Given the description of an element on the screen output the (x, y) to click on. 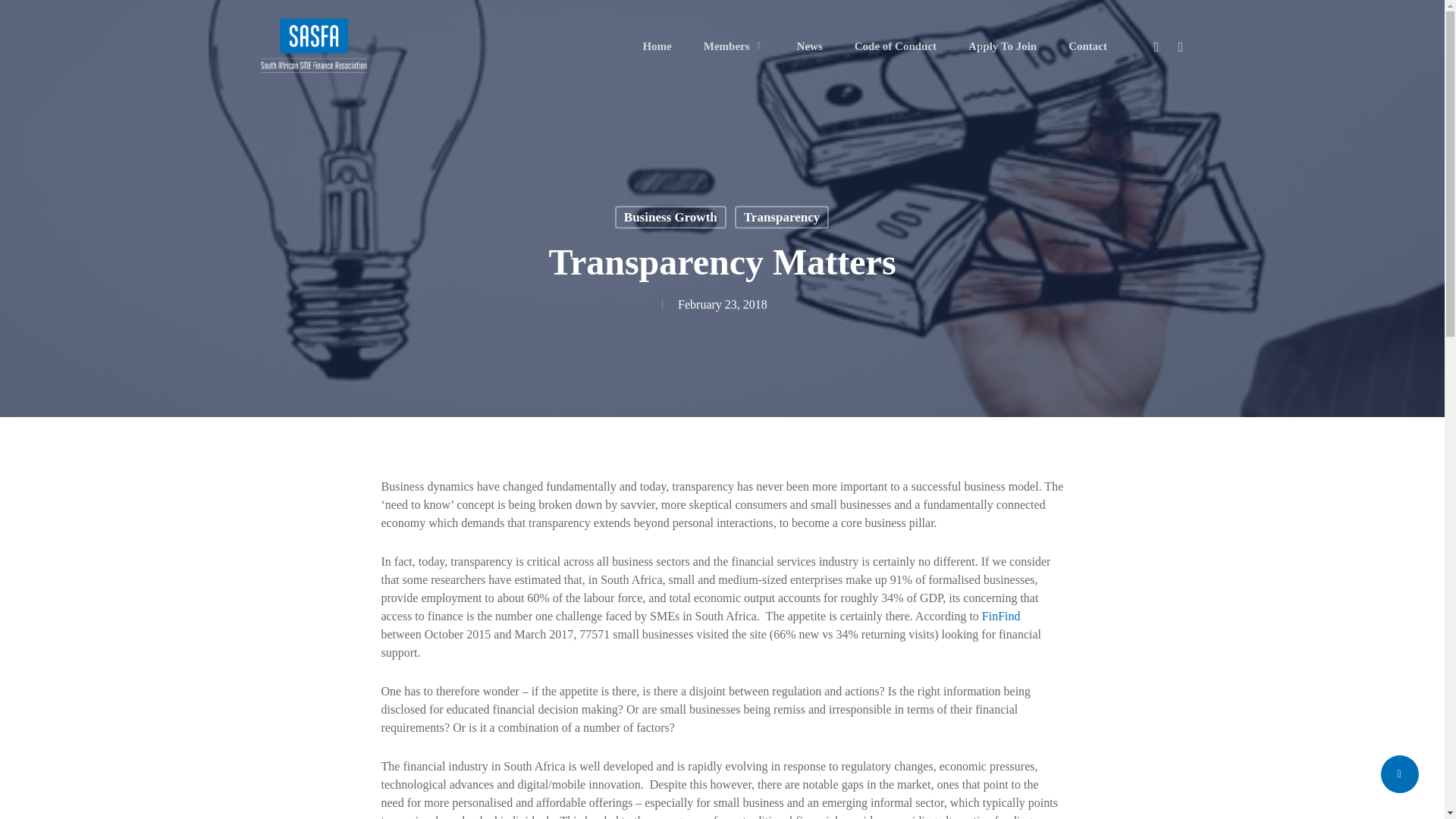
linkedin (1180, 45)
Members (733, 45)
News (809, 45)
Apply To Join (1002, 45)
Code of Conduct (895, 45)
FinFind (1000, 615)
facebook (1156, 45)
Transparency (781, 217)
Contact (1087, 45)
Business Growth (670, 217)
Home (656, 45)
